Given the description of an element on the screen output the (x, y) to click on. 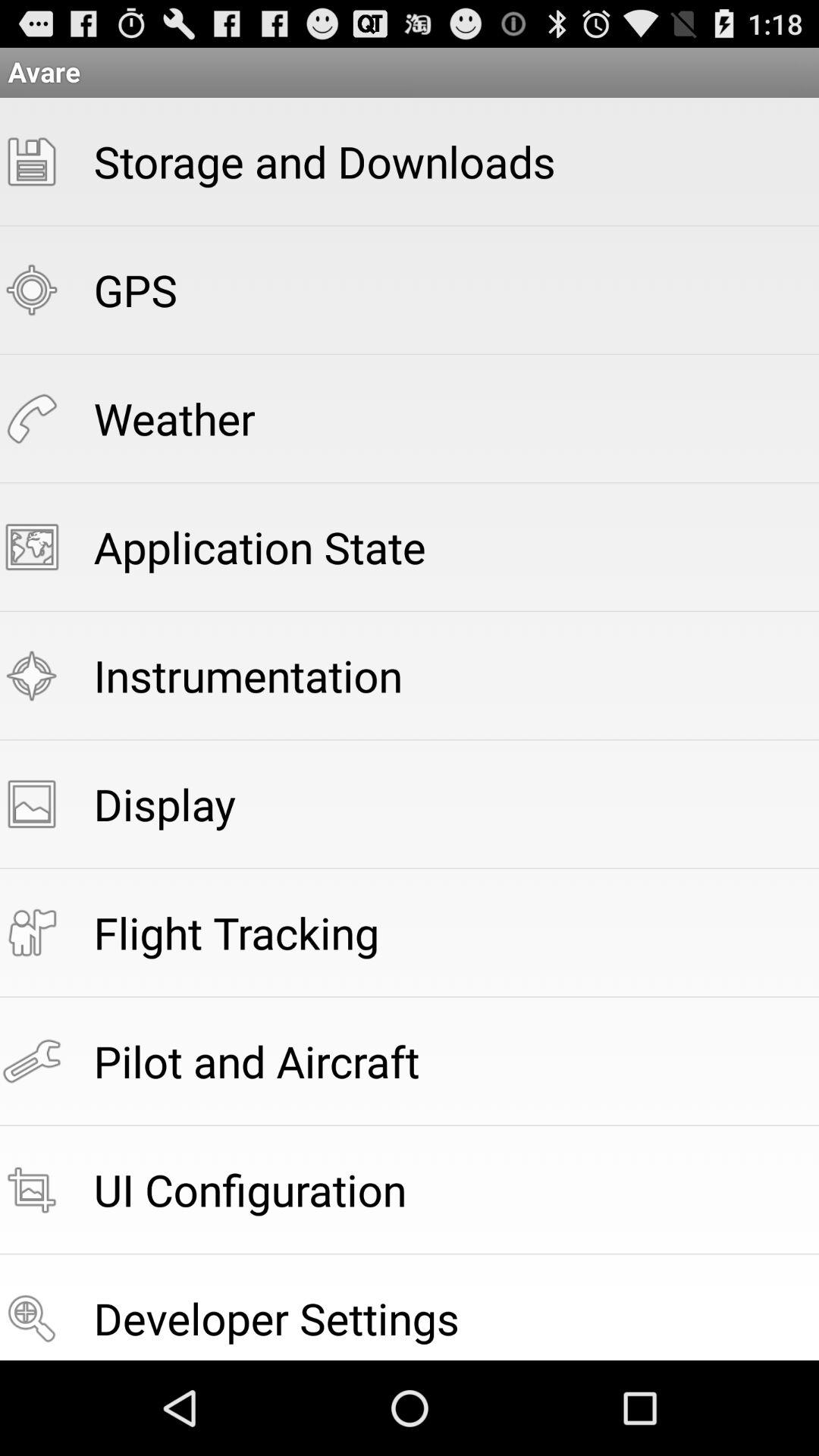
press app above weather item (135, 289)
